Given the description of an element on the screen output the (x, y) to click on. 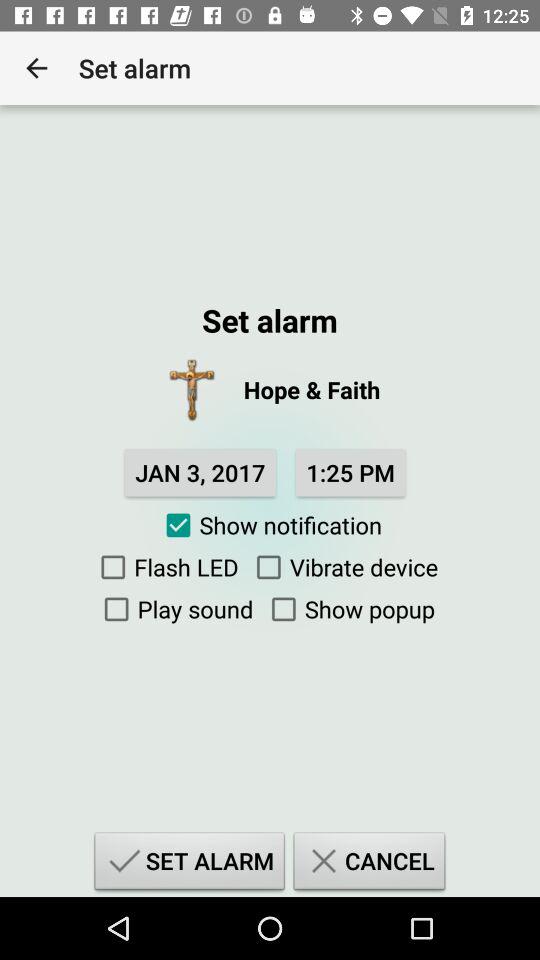
turn on app to the left of the set alarm icon (36, 68)
